Given the description of an element on the screen output the (x, y) to click on. 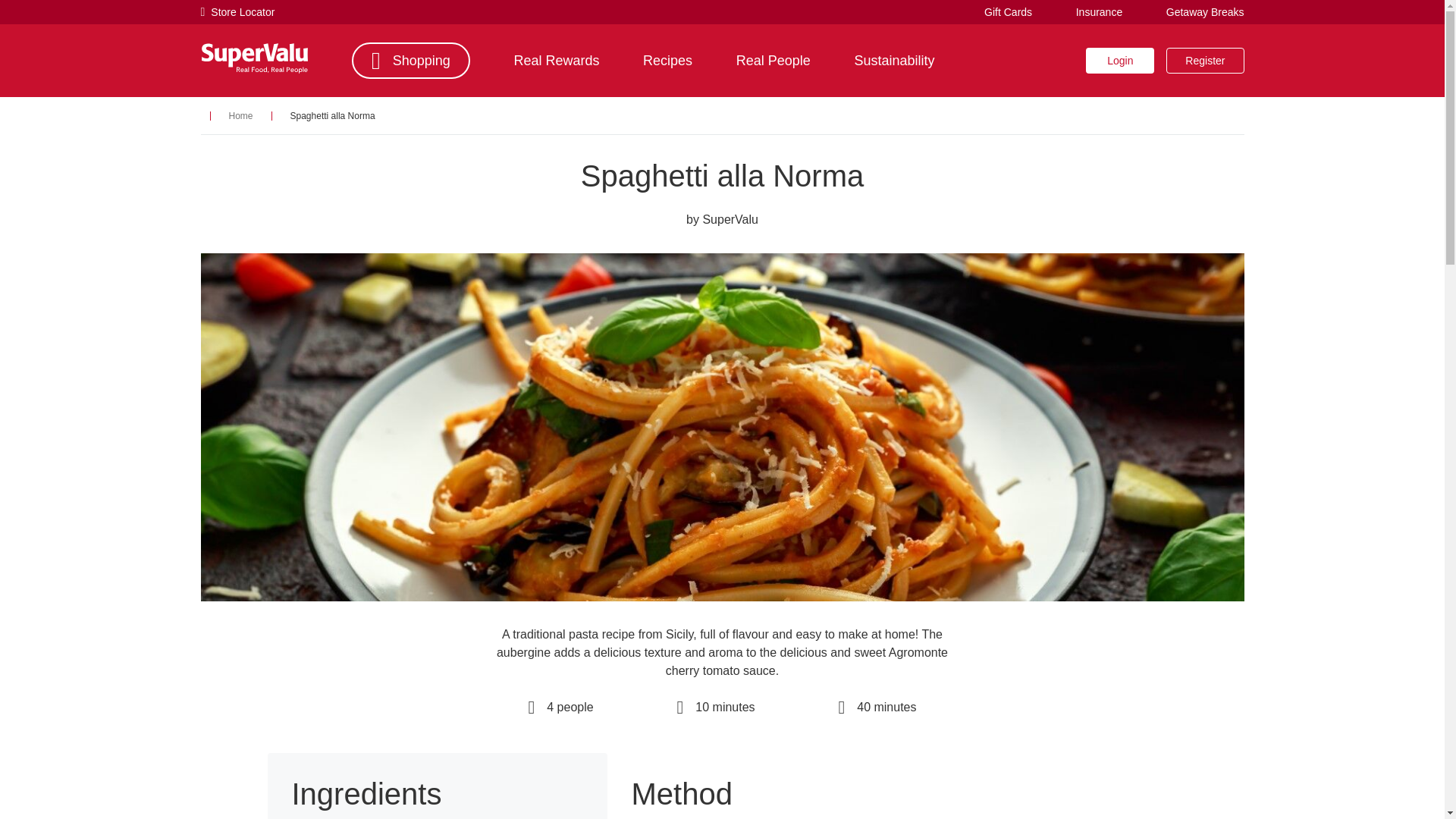
Register (1204, 60)
Real People (773, 60)
Shopping (411, 60)
Log in (1120, 60)
Register (1204, 60)
Gift Cards (1008, 11)
Sustainability (893, 60)
Login (1120, 60)
Getaway Breaks (1205, 11)
Recipes (668, 60)
Real Rewards (555, 60)
Store Locator (237, 12)
Home (240, 115)
Insurance (1098, 11)
